Given the description of an element on the screen output the (x, y) to click on. 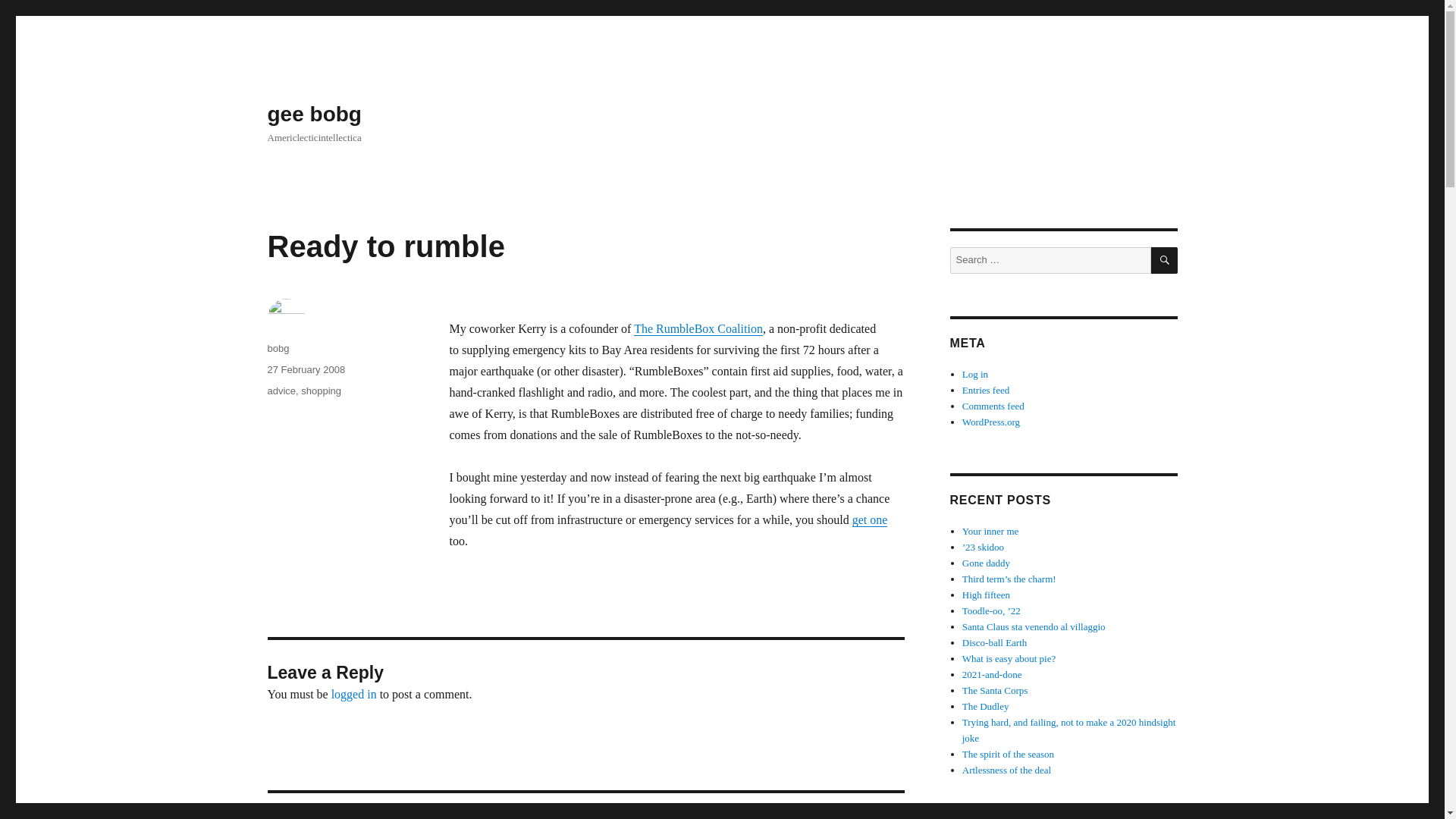
bobg (277, 348)
The Santa Corps (994, 690)
get one (869, 519)
Gone daddy (986, 562)
Artlessness of the deal (1006, 769)
Disco-ball Earth (994, 642)
Your inner me (990, 531)
WordPress.org (991, 421)
gee bobg (313, 114)
SEARCH (1164, 260)
